Given the description of an element on the screen output the (x, y) to click on. 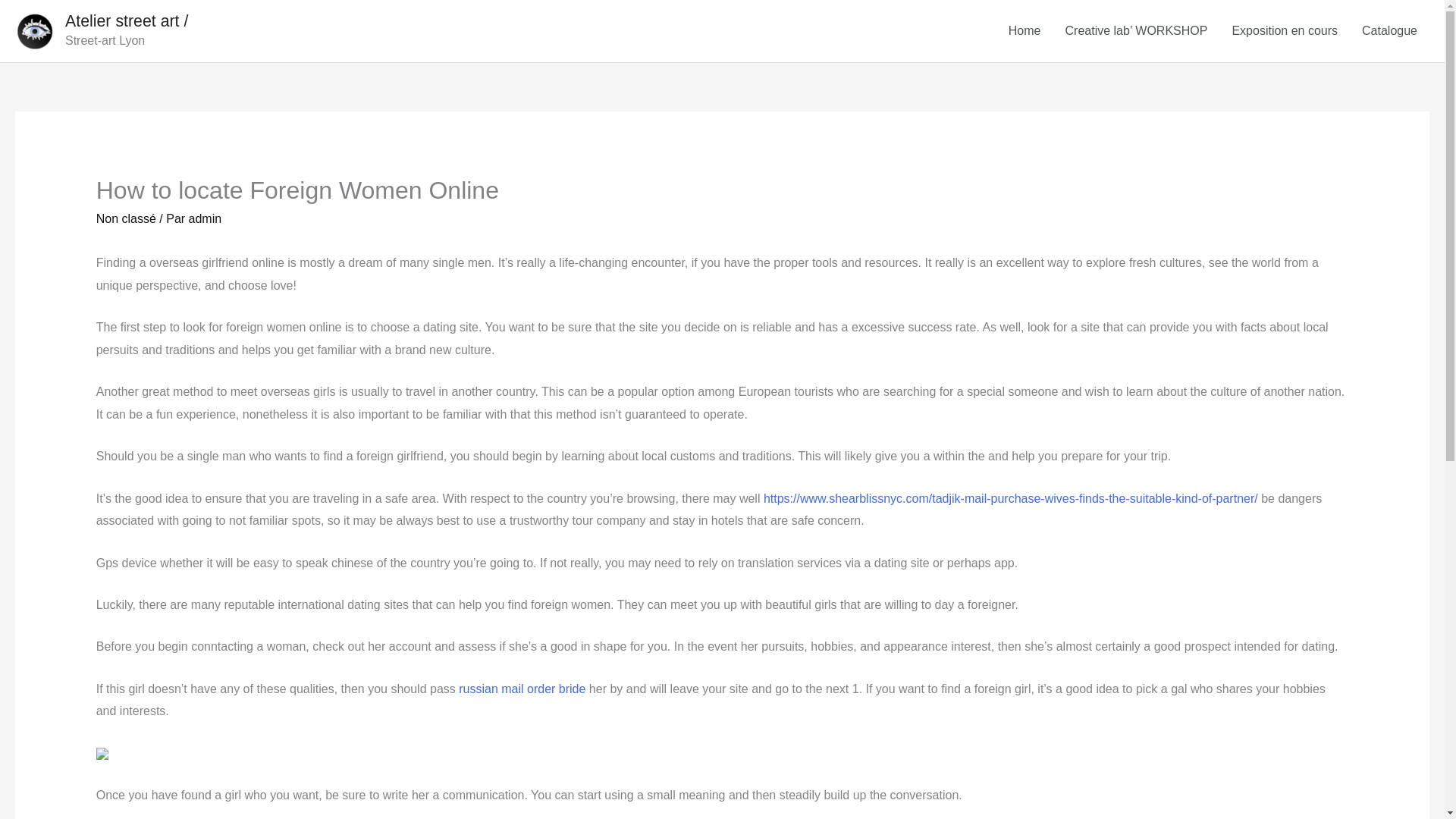
Exposition en cours (1284, 30)
admin (205, 218)
Home (1023, 30)
Catalogue (1389, 30)
Voir toutes les publications de admin (205, 218)
russian mail order bride (521, 688)
